Given the description of an element on the screen output the (x, y) to click on. 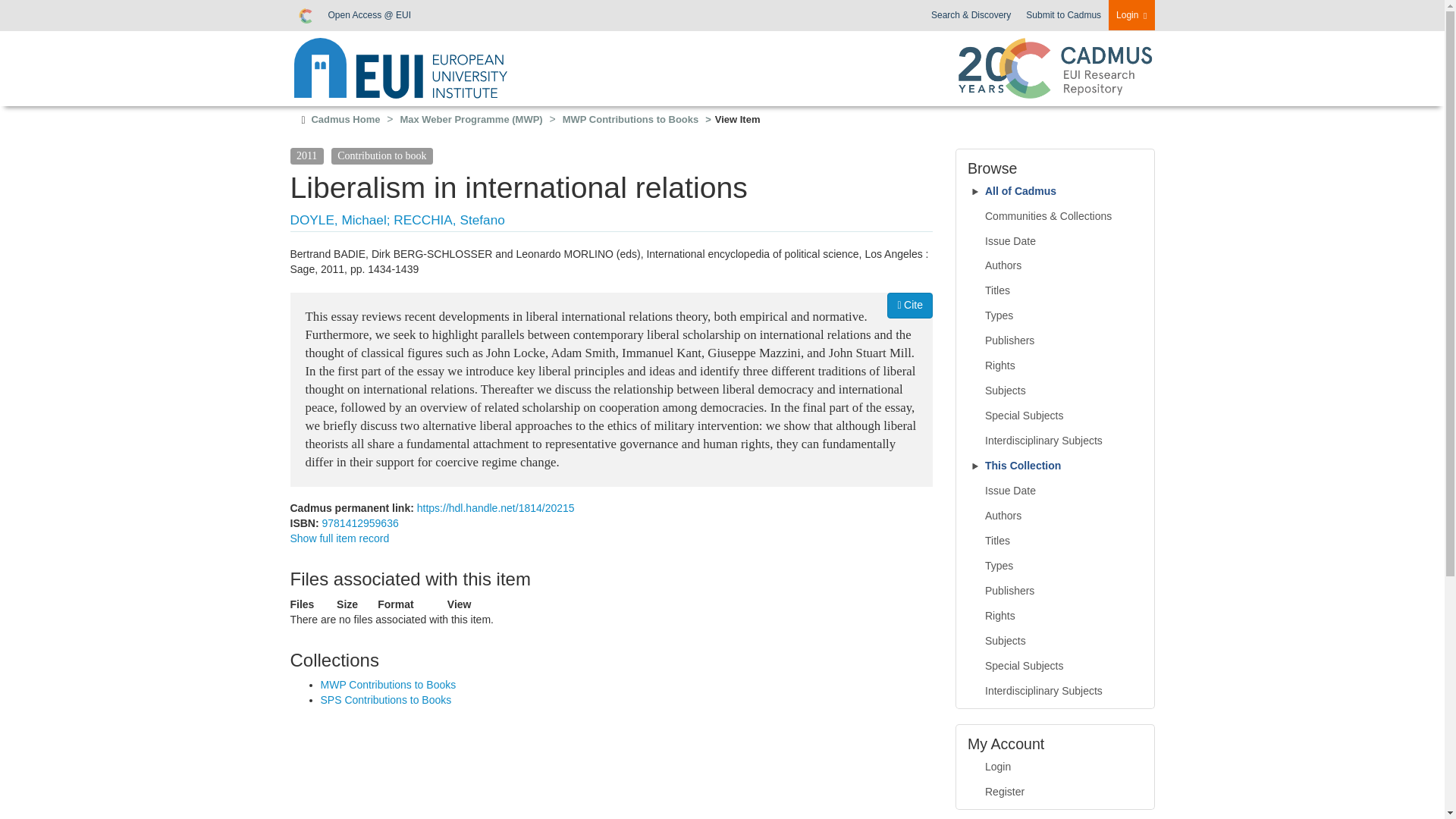
Special Subjects (1055, 416)
Submit to Cadmus (1062, 15)
9781412959636 (359, 522)
SPS Contributions to Books (385, 699)
Show full item record (338, 538)
Rights (1055, 365)
MWP Contributions to Books (387, 684)
DOYLE, Michael (337, 219)
Interdisciplinary Subjects (1055, 441)
Issue Date (1055, 491)
